Given the description of an element on the screen output the (x, y) to click on. 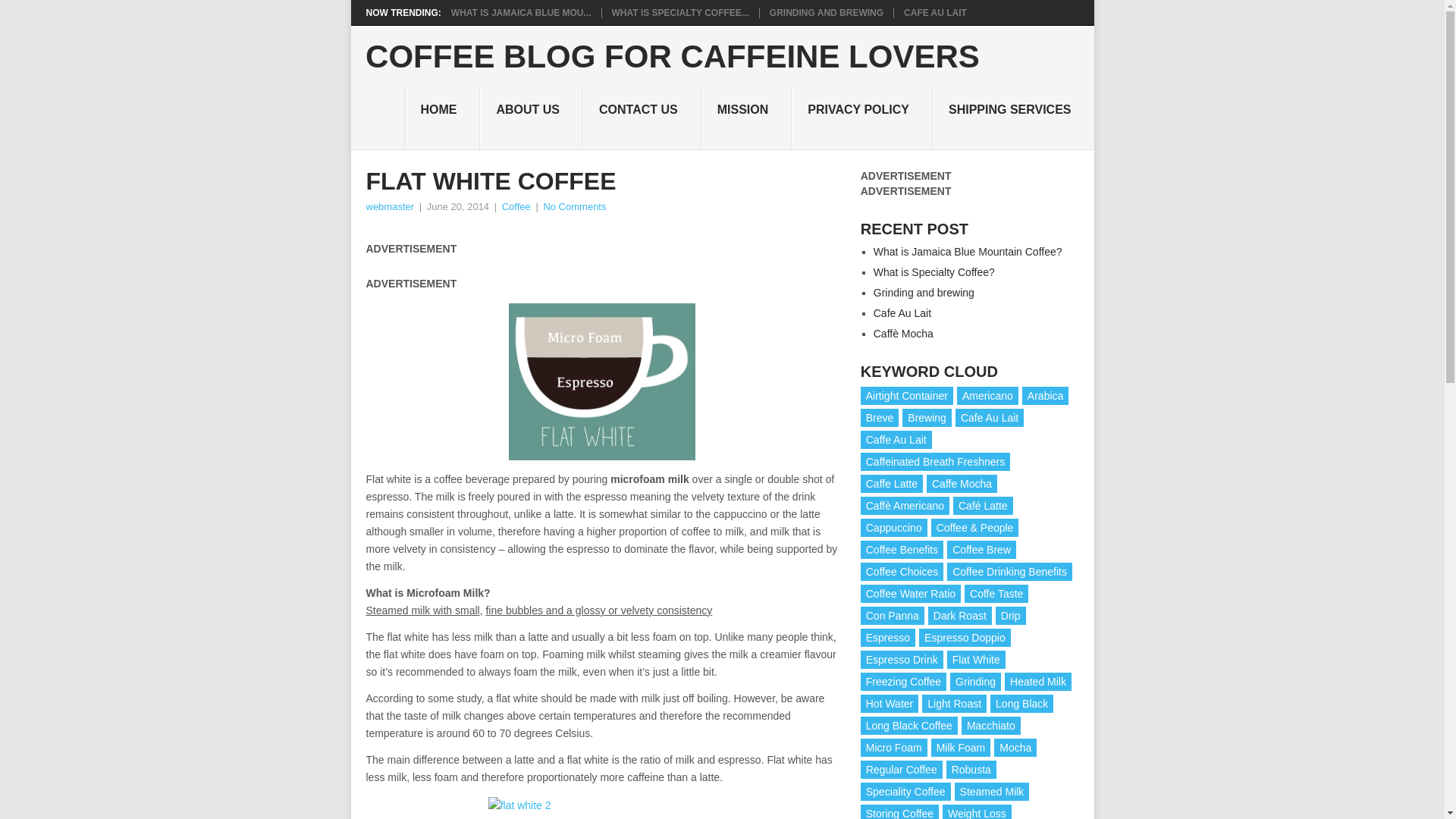
What is Jamaica Blue Mountain Coffee? (967, 251)
Airtight Container (906, 395)
Breve (879, 417)
Americano (986, 395)
GRINDING AND BREWING (826, 12)
SHIPPING SERVICES (1013, 118)
CAFE AU LAIT (935, 12)
CONTACT US (642, 118)
webmaster (389, 206)
Caffe Au Lait (895, 439)
